Given the description of an element on the screen output the (x, y) to click on. 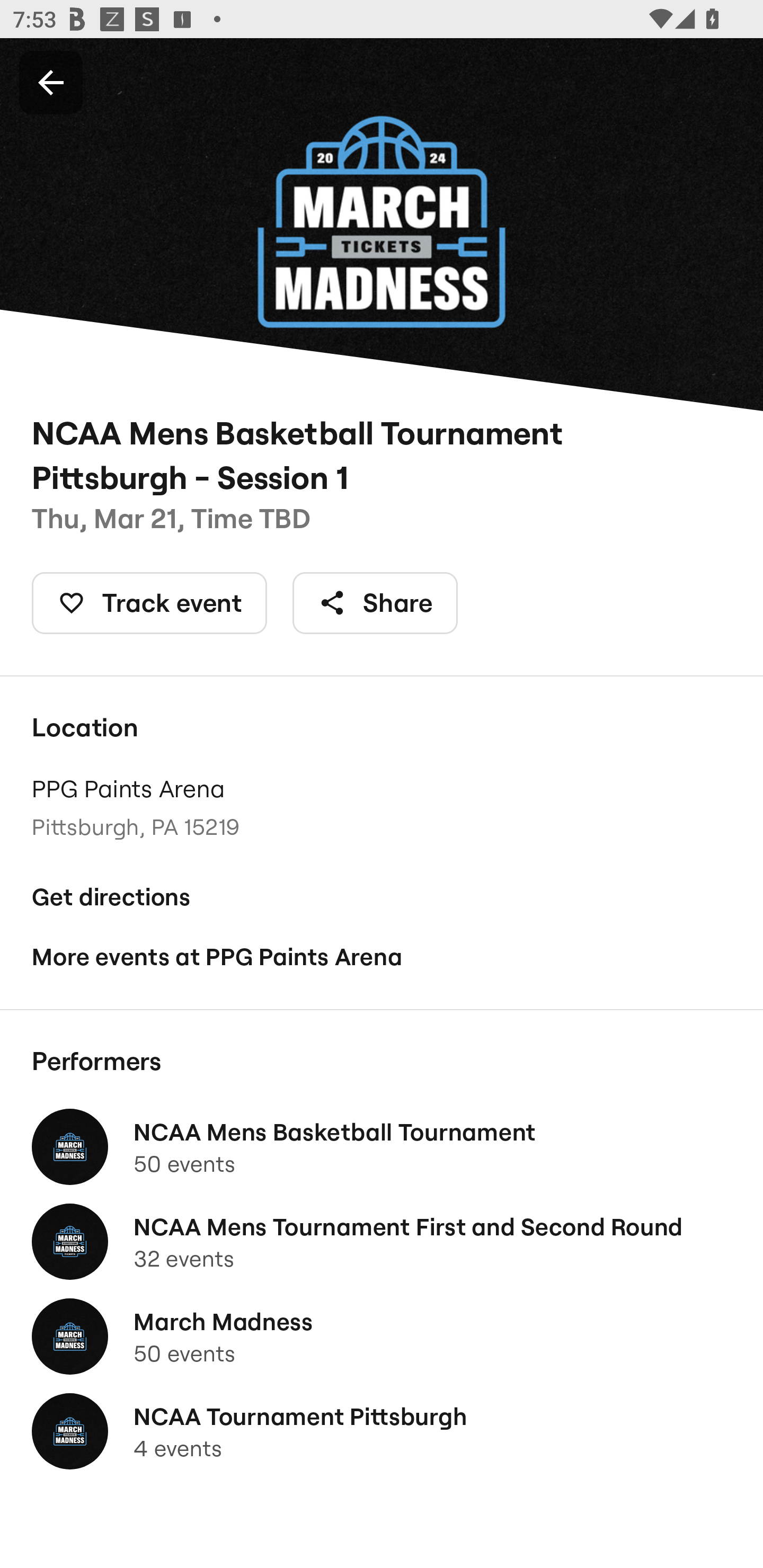
Back (50, 81)
Track event (149, 602)
Share (374, 602)
Get directions (381, 896)
More events at PPG Paints Arena (381, 956)
NCAA Mens Basketball Tournament 50 events (381, 1146)
March Madness 50 events (381, 1336)
NCAA Tournament Pittsburgh 4 events (381, 1431)
